Given the description of an element on the screen output the (x, y) to click on. 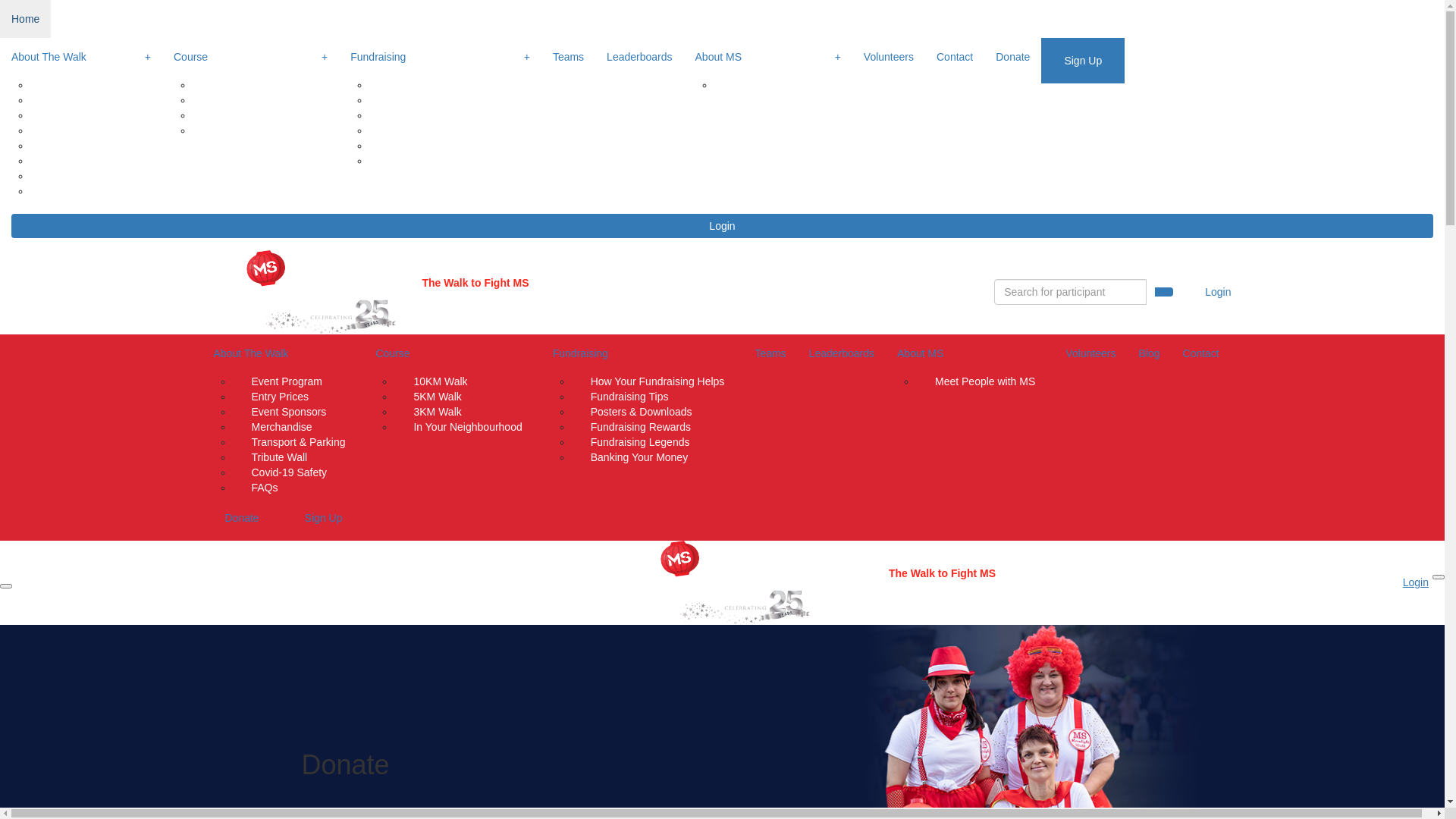
Event Program Element type: text (286, 371)
Leaderboards Element type: text (639, 56)
Event Sponsors Element type: text (288, 411)
Fundraising Element type: text (642, 353)
In Your Neighbourhood Element type: text (467, 435)
Fundraising Tips Element type: text (427, 100)
Posters & Downloads Element type: text (438, 115)
In Your Neighbourhood Element type: text (265, 139)
Home Element type: text (25, 18)
Covid-19 Safety Element type: text (288, 472)
Contact Element type: text (954, 56)
Sign Up Element type: text (1082, 60)
How Your Fundraising Helps Element type: text (455, 75)
About The Walk
+ Element type: text (81, 57)
Teams Element type: text (568, 56)
Login Element type: text (1415, 582)
Donate Element type: text (1012, 56)
How Your Fundraising Helps Element type: text (657, 371)
Course
+ Element type: text (250, 57)
3KM Walk Element type: text (437, 411)
FAQs Element type: text (62, 200)
5KM Walk Element type: text (437, 396)
5KM Walk Element type: text (235, 100)
Fundraising
+ Element type: text (439, 57)
Fundraising Tips Element type: text (629, 396)
Covid-19 Safety Element type: text (87, 175)
Sign Up Element type: text (323, 517)
10KM Walk Element type: text (238, 75)
Fundraising Legends Element type: text (437, 145)
Meet People with MS Element type: text (985, 381)
Event Sponsors Element type: text (86, 100)
Donate Element type: text (241, 517)
Blog Element type: text (1148, 353)
Banking Your Money Element type: text (436, 169)
Merchandise Element type: text (281, 426)
FAQs Element type: text (264, 496)
Banking Your Money Element type: text (638, 466)
Course Element type: text (452, 353)
10KM Walk Element type: text (440, 371)
Event Program Element type: text (84, 75)
Transport & Parking Element type: text (298, 442)
Contact Element type: text (1200, 353)
Entry Prices Element type: text (77, 115)
Transport & Parking Element type: text (96, 145)
Leaderboards Element type: text (841, 353)
Merchandise Element type: text (79, 130)
Tribute Wall Element type: text (279, 457)
Volunteers Element type: text (888, 56)
Meet People with MS Element type: text (783, 84)
About MS Element type: text (969, 353)
Login Element type: text (722, 225)
About MS
+ Element type: text (768, 57)
3KM Walk Element type: text (235, 115)
Fundraising Rewards Element type: text (640, 426)
Teams Element type: text (770, 353)
Entry Prices Element type: text (279, 396)
About The Walk Element type: text (282, 353)
Posters & Downloads Element type: text (641, 411)
Fundraising Rewards Element type: text (438, 130)
Tribute Wall Element type: text (77, 160)
Login Element type: text (1217, 291)
Fundraising Legends Element type: text (640, 442)
Volunteers Element type: text (1090, 353)
